Given the description of an element on the screen output the (x, y) to click on. 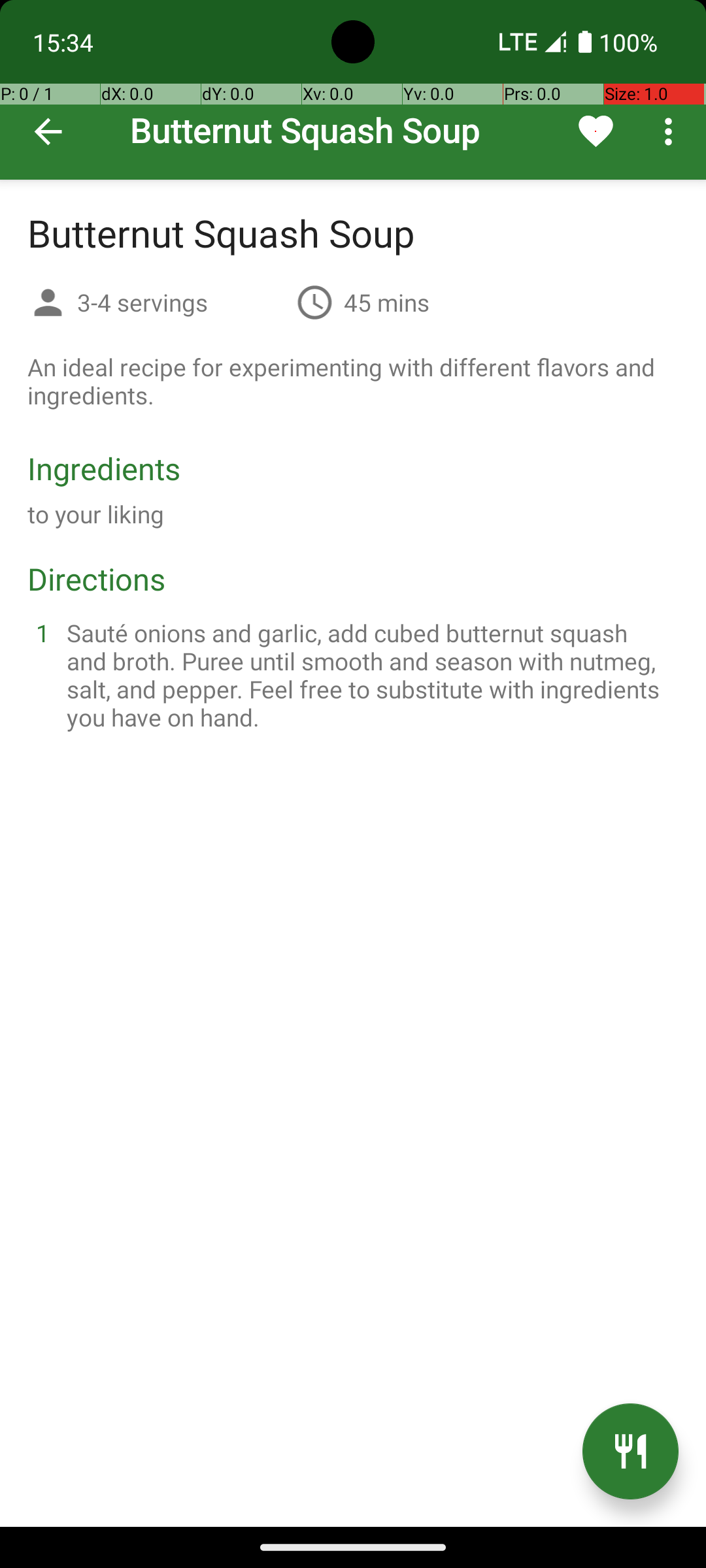
to your liking Element type: android.widget.TextView (95, 513)
Sauté onions and garlic, add cubed butternut squash and broth. Puree until smooth and season with nutmeg, salt, and pepper. Feel free to substitute with ingredients you have on hand. Element type: android.widget.TextView (368, 674)
